Given the description of an element on the screen output the (x, y) to click on. 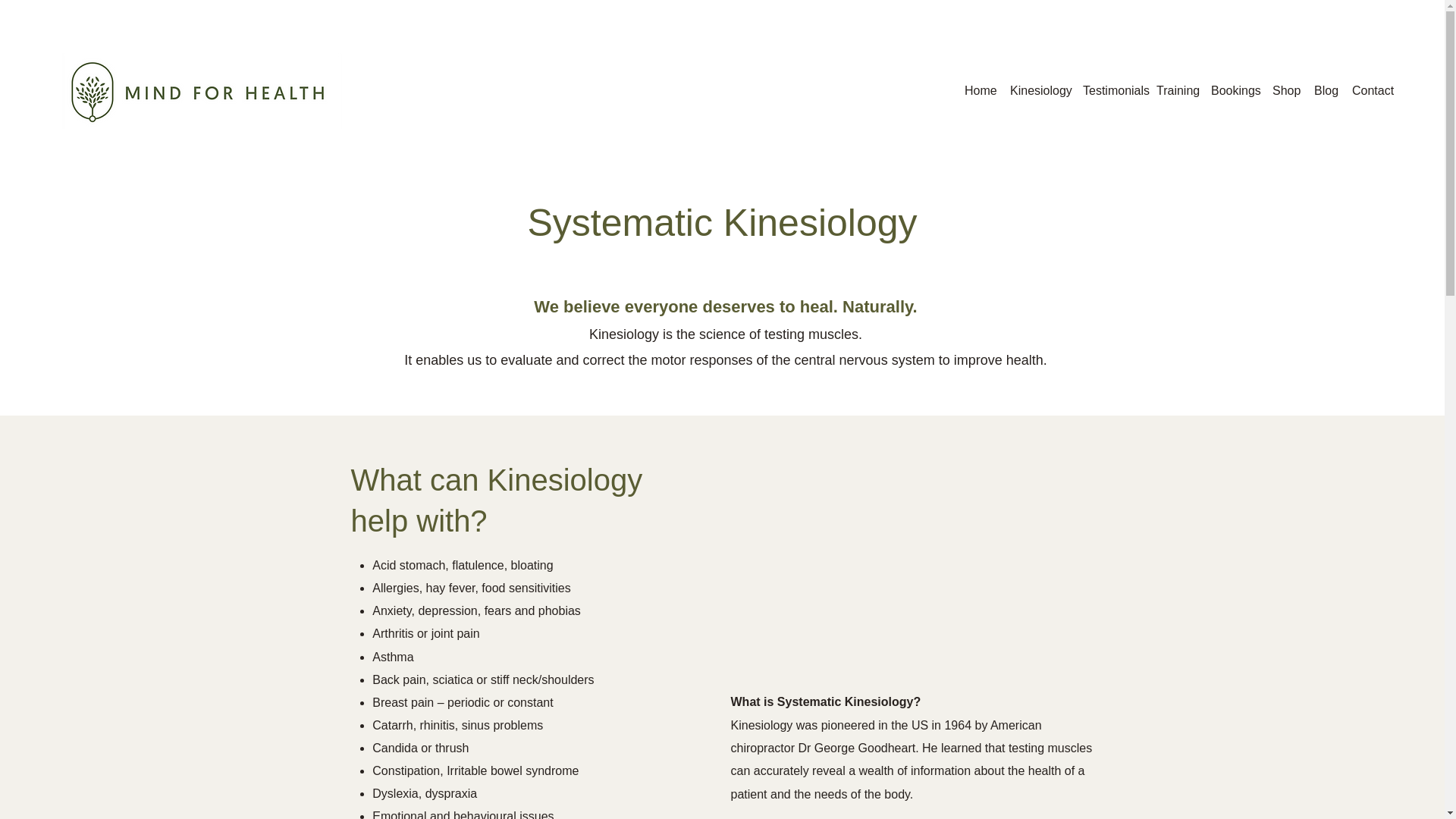
Home (979, 90)
Blog (1324, 90)
Bookings (1234, 90)
Contact (1371, 90)
Shop (1285, 90)
